Given the description of an element on the screen output the (x, y) to click on. 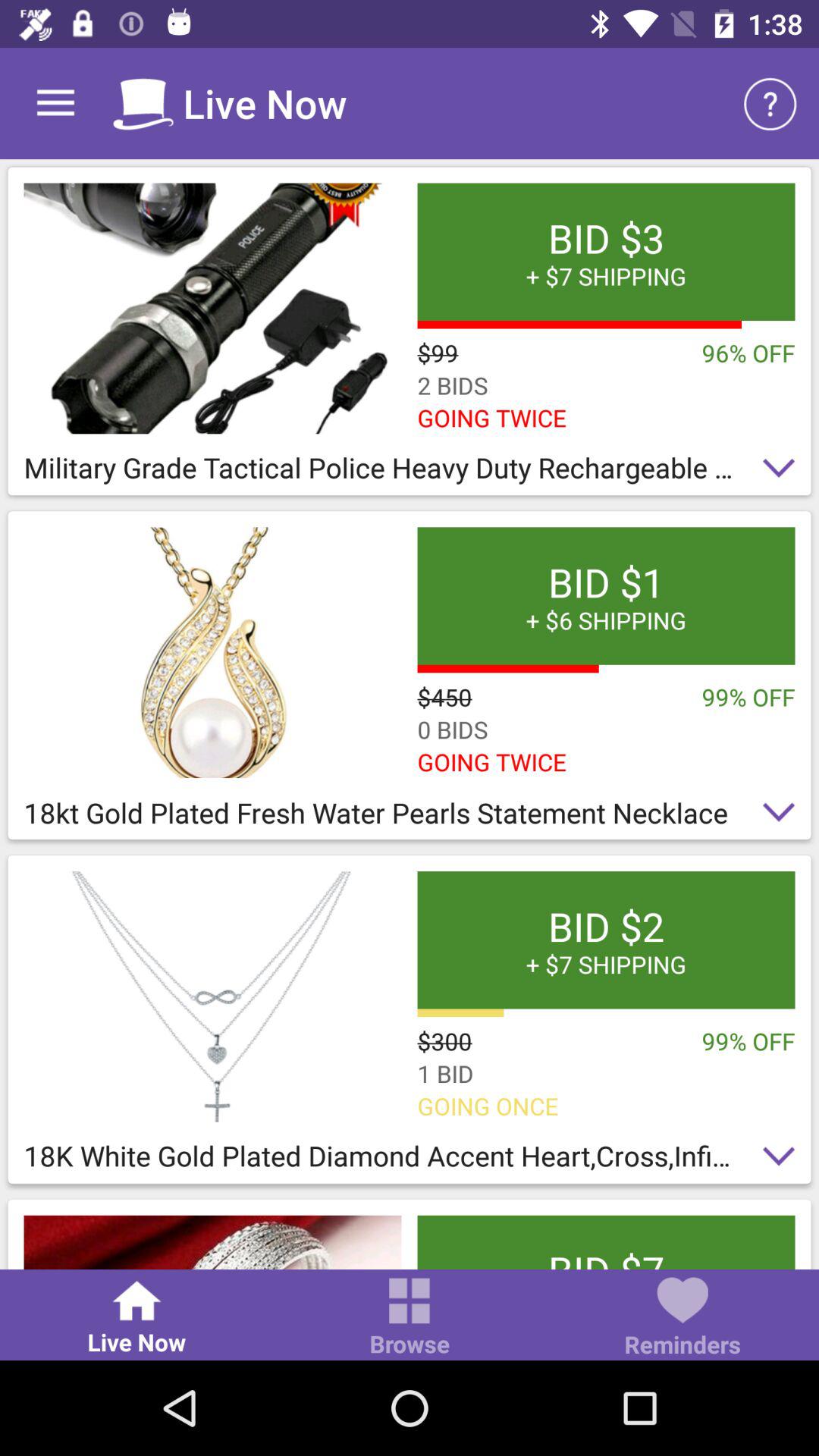
click item to the left of the reminders item (409, 1318)
